Given the description of an element on the screen output the (x, y) to click on. 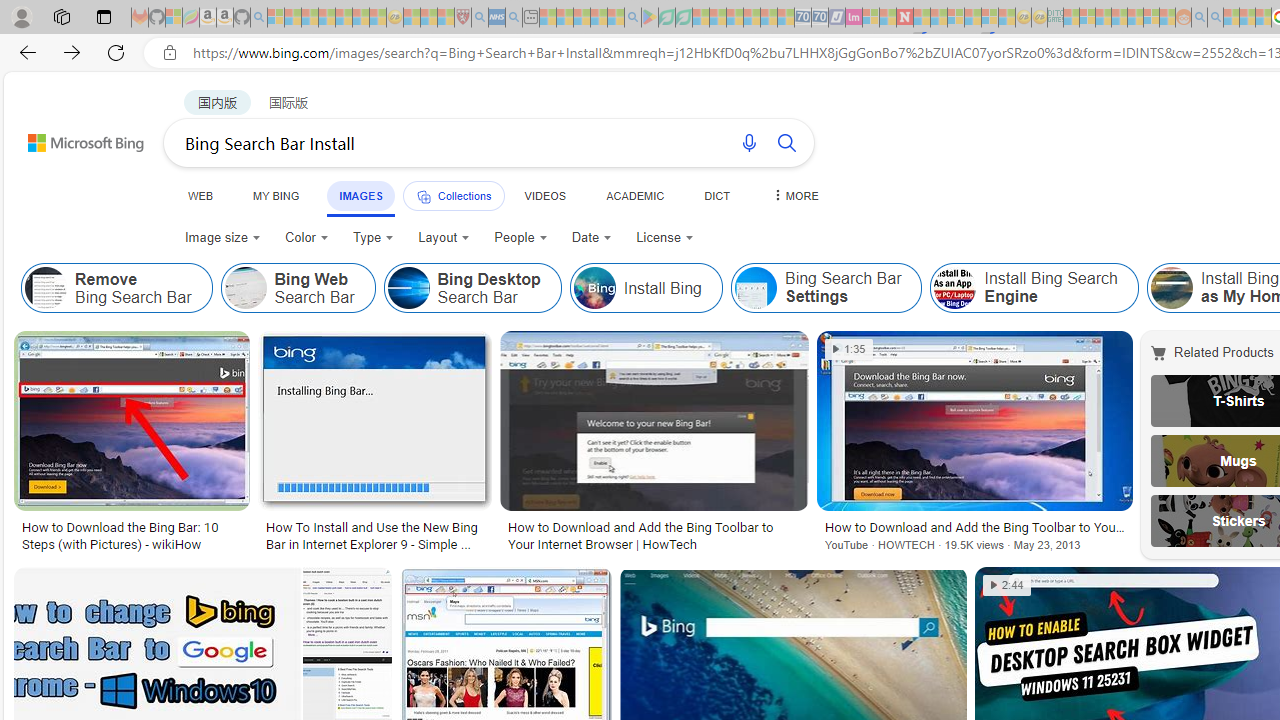
Bing Desktop Search Bar (472, 287)
MORE (793, 195)
Bing Search Bar Settings (754, 287)
Layout (443, 237)
1:35 (849, 349)
Type (373, 237)
Bing Desktop Search Bar (408, 287)
Install Bing (645, 287)
